Given the description of an element on the screen output the (x, y) to click on. 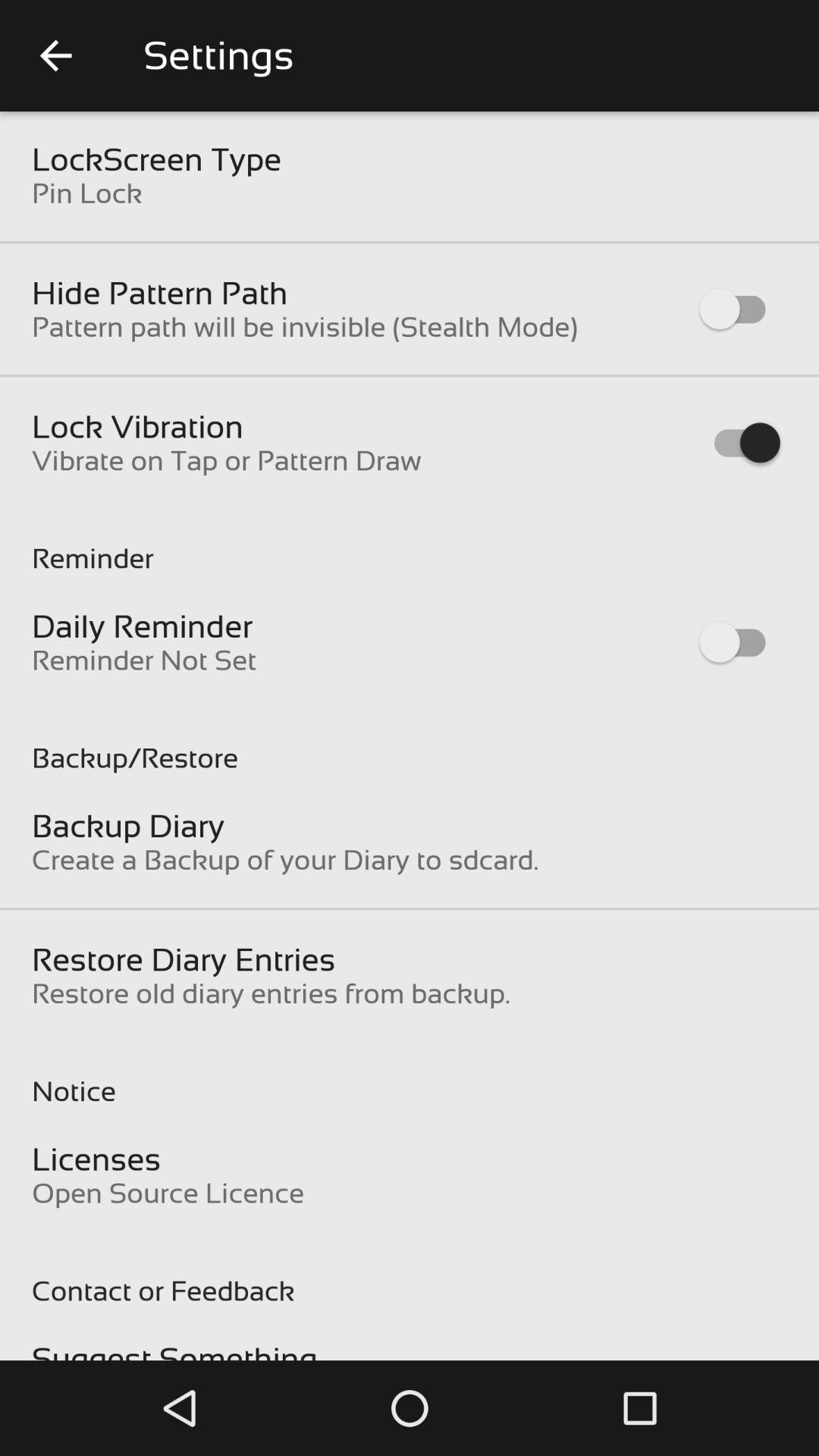
jump until pin lock (86, 193)
